Given the description of an element on the screen output the (x, y) to click on. 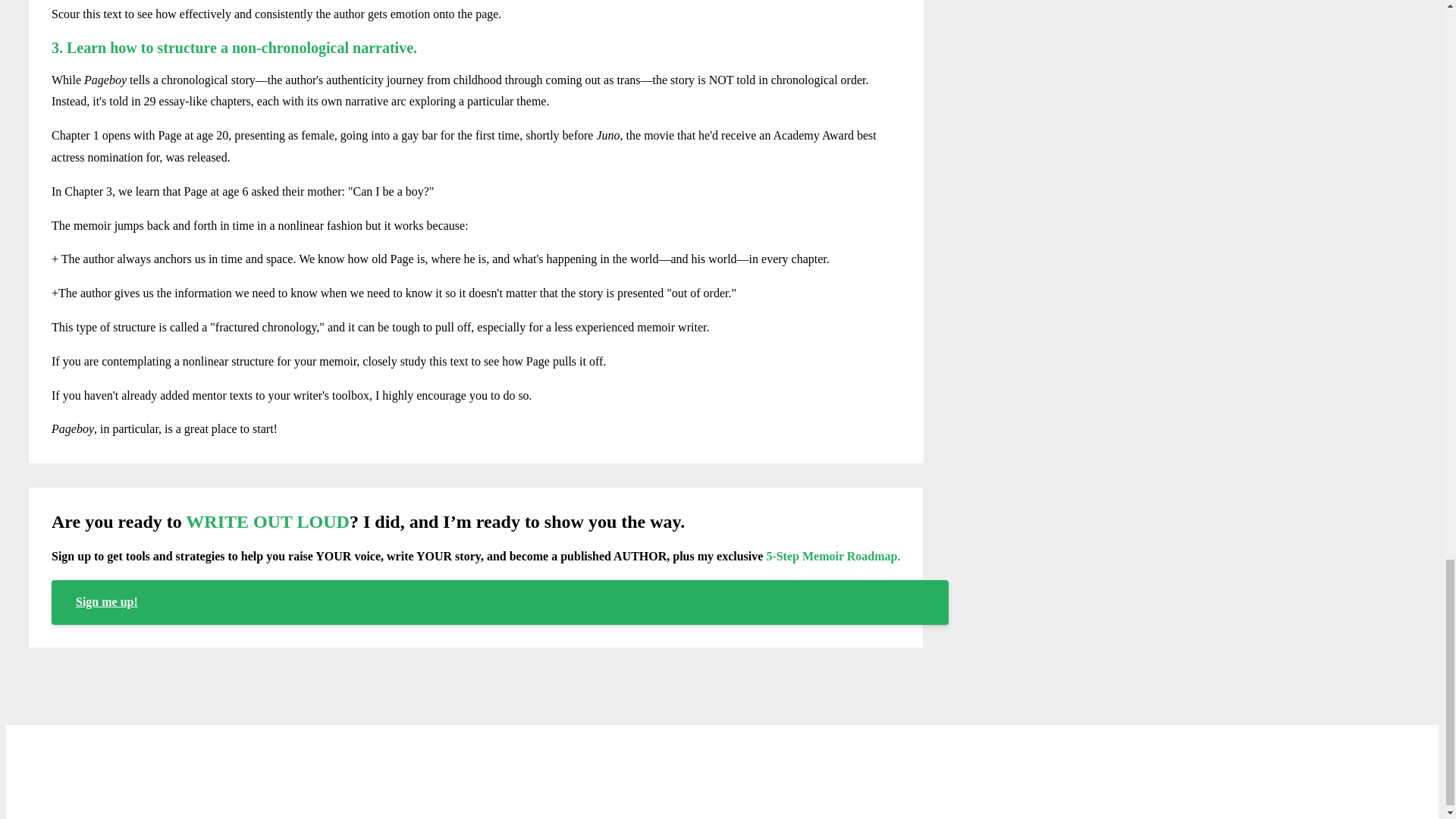
Sign me up! (499, 601)
Privacy (697, 763)
Terms (645, 763)
